Given the description of an element on the screen output the (x, y) to click on. 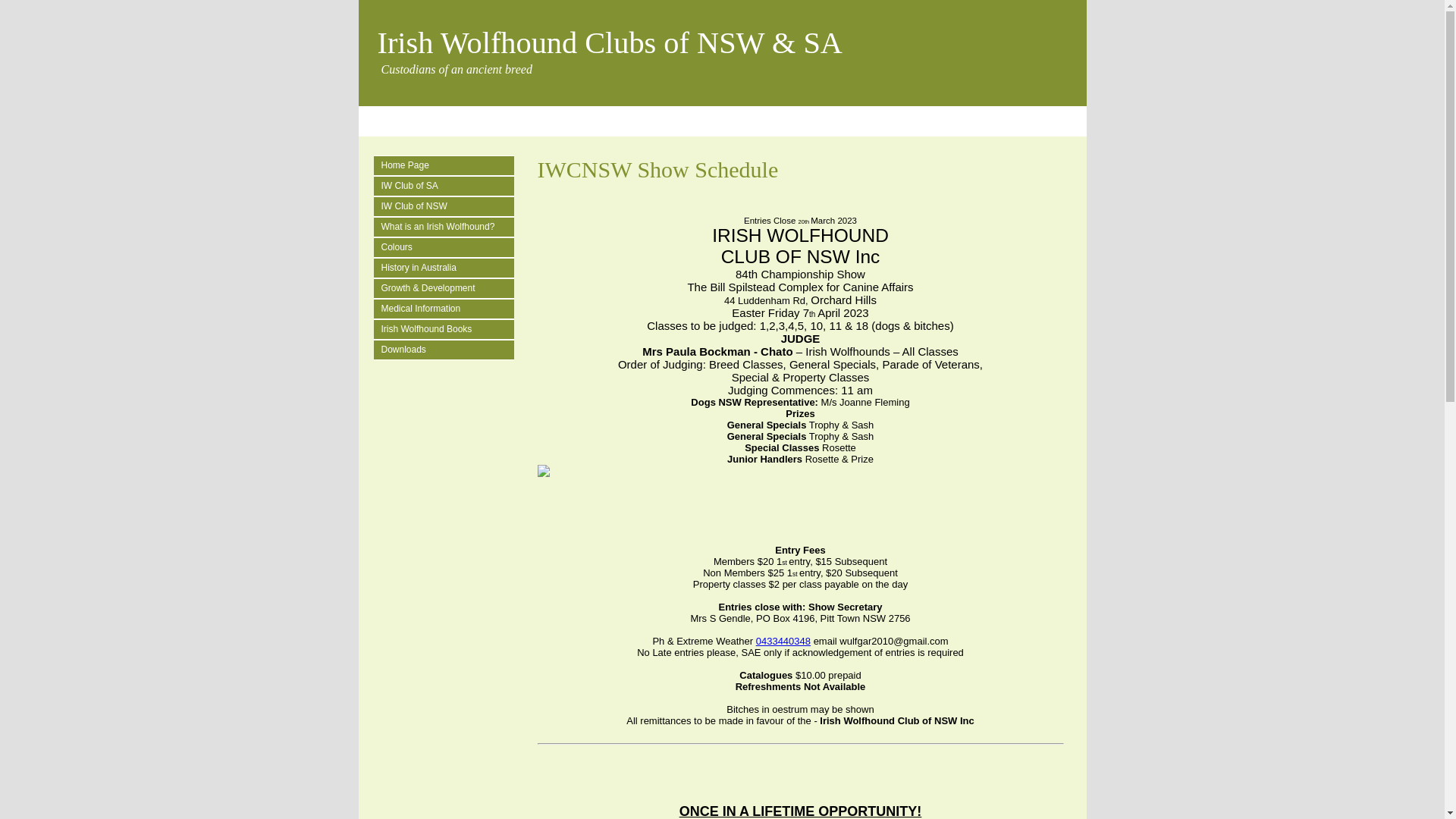
History in Australia Element type: text (446, 267)
Colours Element type: text (446, 247)
Growth & Development Element type: text (446, 288)
0433440348 Element type: text (783, 640)
What is an Irish Wolfhound? Element type: text (446, 226)
Downloads Element type: text (446, 349)
Medical Information Element type: text (446, 308)
Irish Wolfhound Books Element type: text (446, 329)
IW Club of NSW Element type: text (446, 206)
Home Page Element type: text (446, 165)
IW Club of SA Element type: text (446, 185)
